Given the description of an element on the screen output the (x, y) to click on. 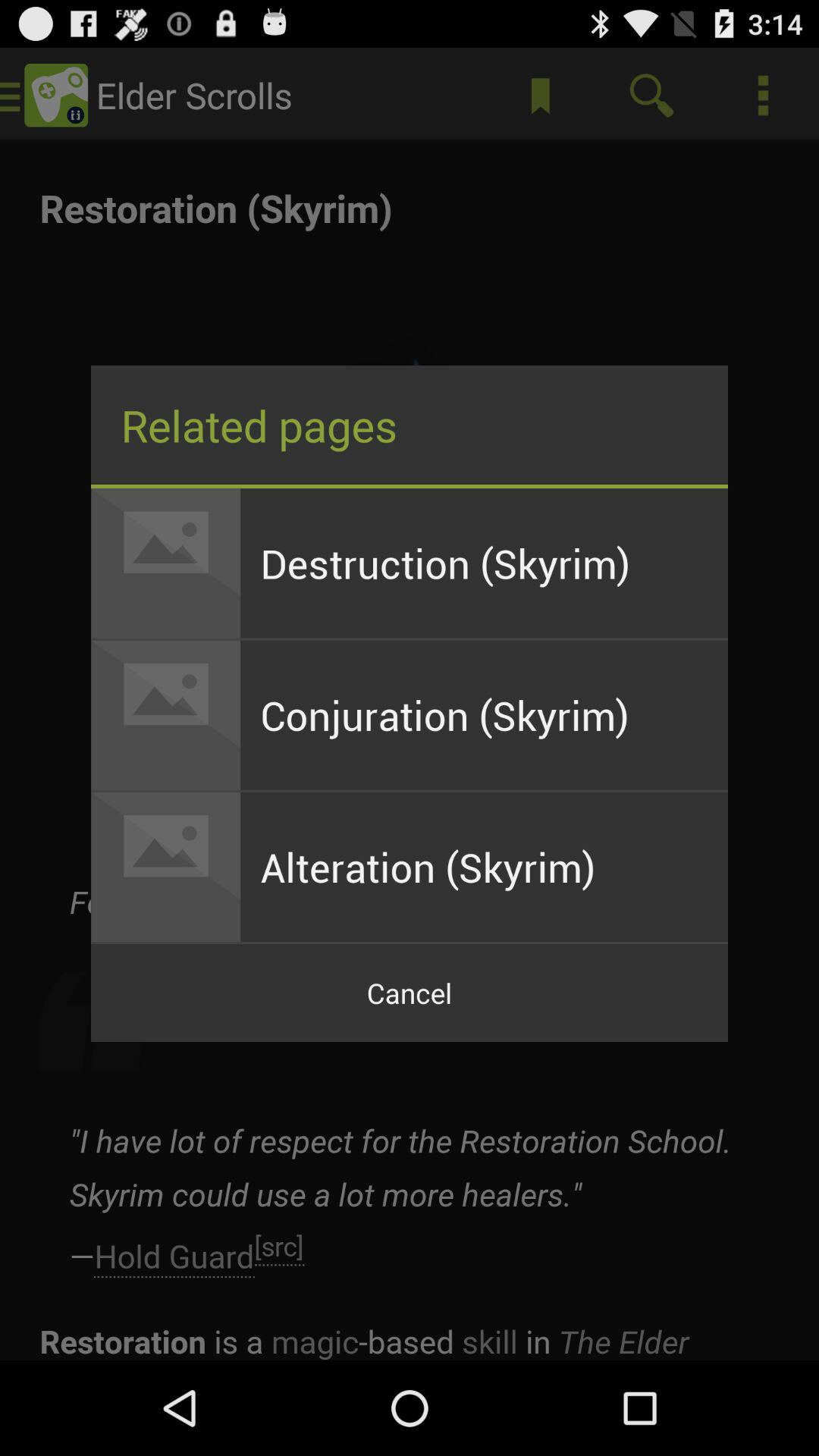
turn off the icon above the alteration (skyrim) item (484, 715)
